Given the description of an element on the screen output the (x, y) to click on. 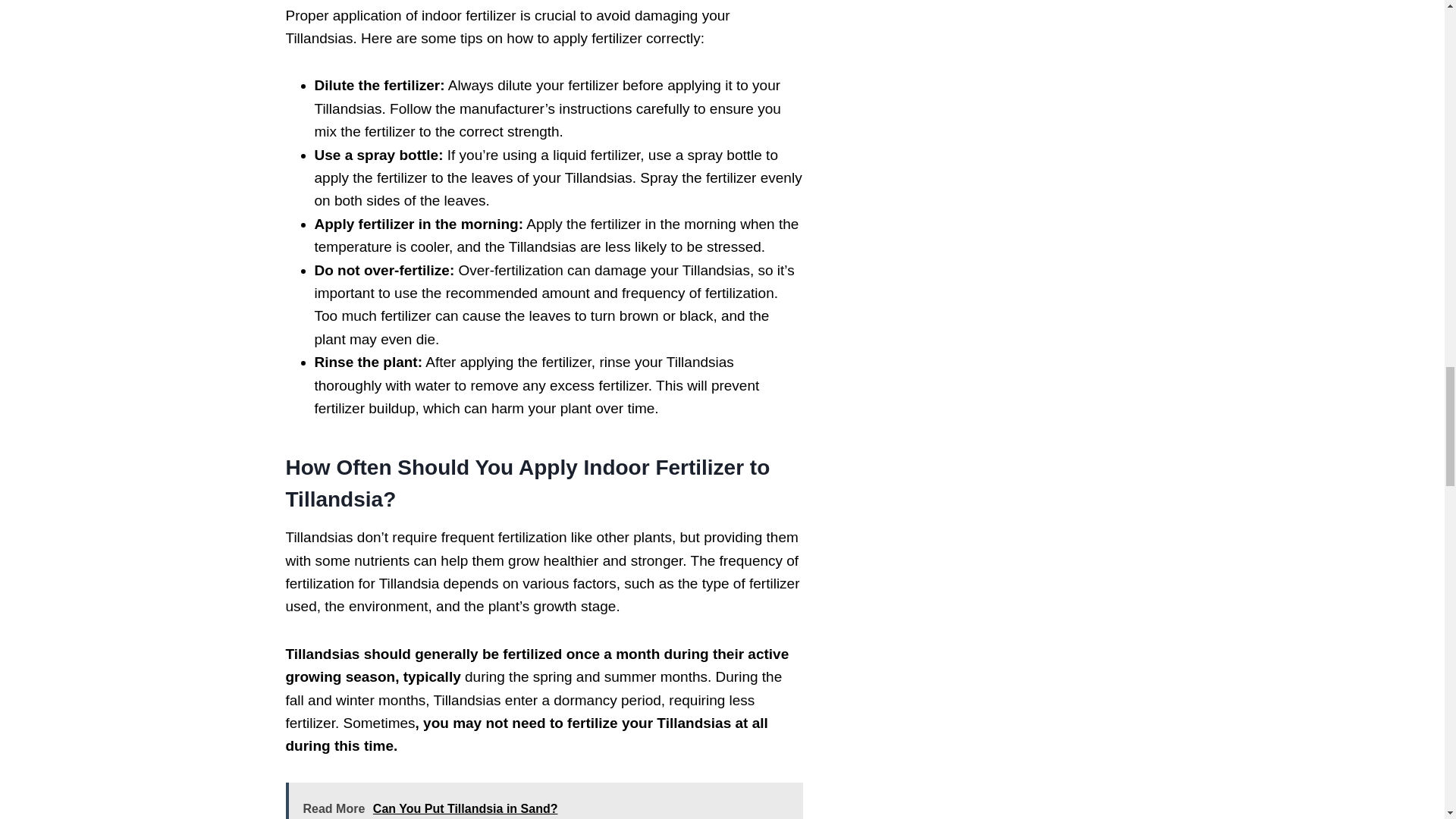
Read More  Can You Put Tillandsia in Sand? (543, 800)
